Given the description of an element on the screen output the (x, y) to click on. 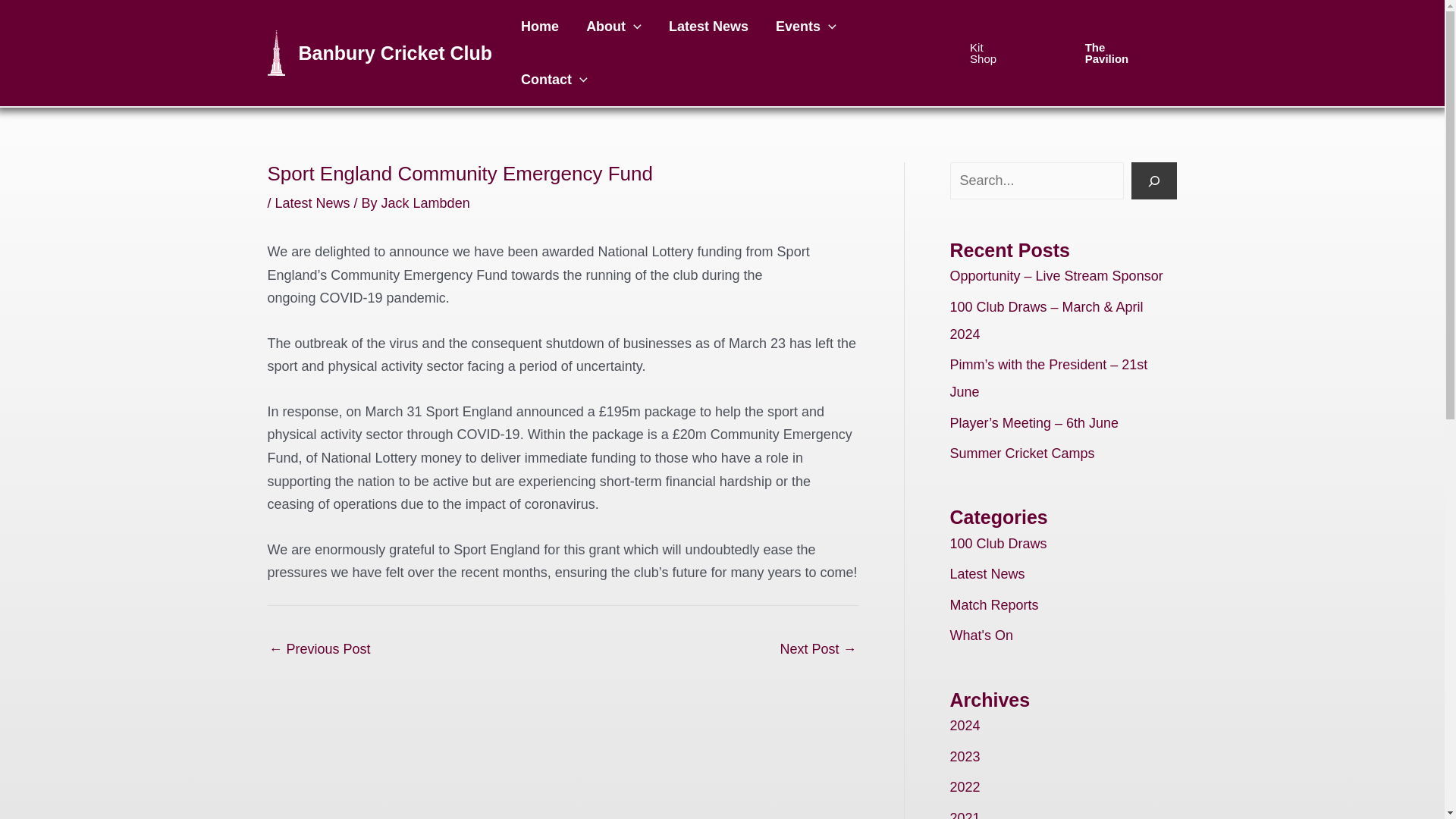
Events (805, 26)
The Pavilion (1115, 52)
Contact (553, 79)
Home (539, 26)
Latest News (708, 26)
View all posts by Jack Lambden (425, 202)
Working Party Needed! (817, 650)
Banbury Cricket Club (395, 52)
Kit Shop (989, 53)
Scorer Challenge (318, 650)
About (613, 26)
